Given the description of an element on the screen output the (x, y) to click on. 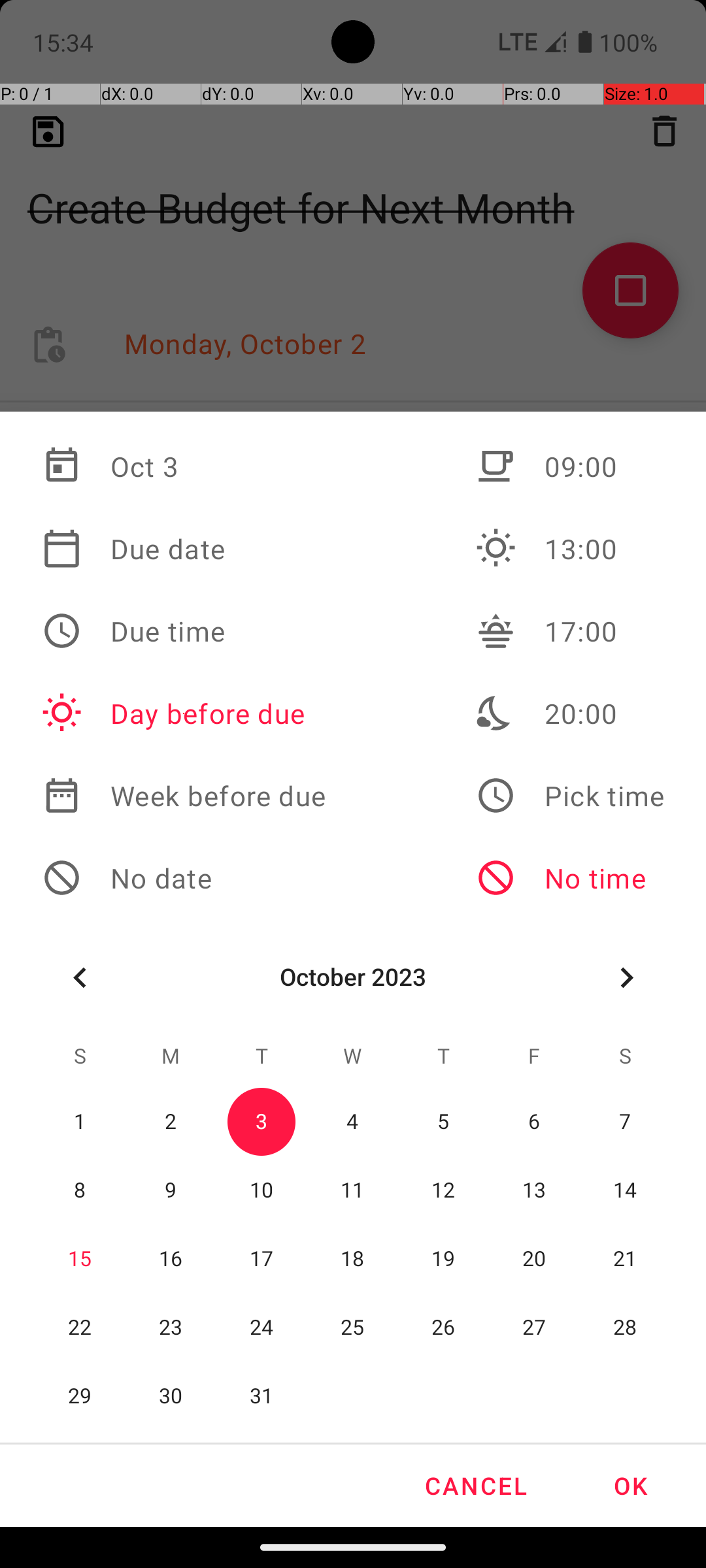
Oct 3 Element type: android.widget.CompoundButton (183, 466)
Due time Element type: android.widget.CompoundButton (183, 630)
Day before due Element type: android.widget.CompoundButton (183, 713)
Week before due Element type: android.widget.CompoundButton (183, 795)
